Given the description of an element on the screen output the (x, y) to click on. 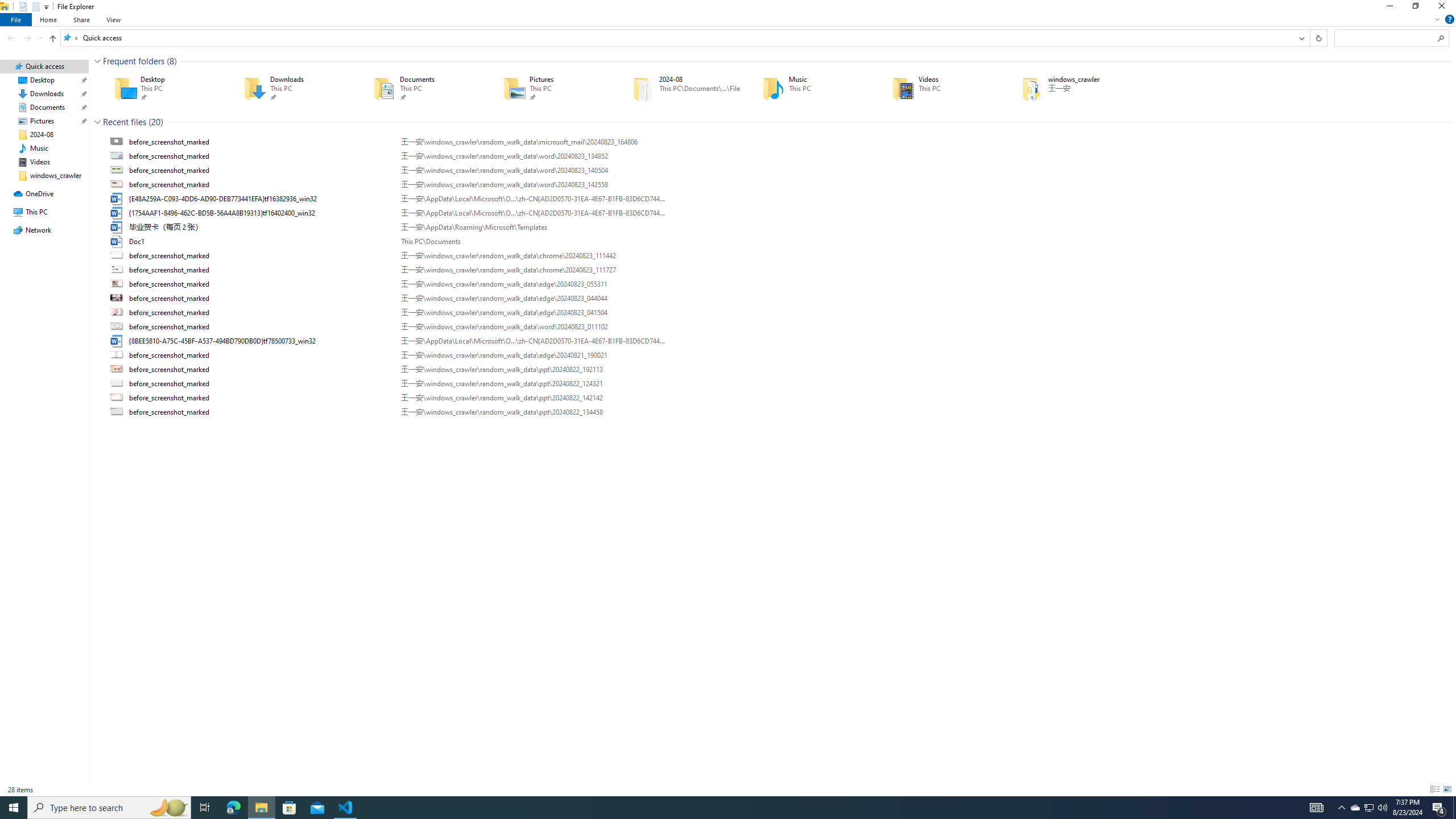
Restore (1415, 8)
Path (532, 411)
Previous Locations (1301, 37)
